Given the description of an element on the screen output the (x, y) to click on. 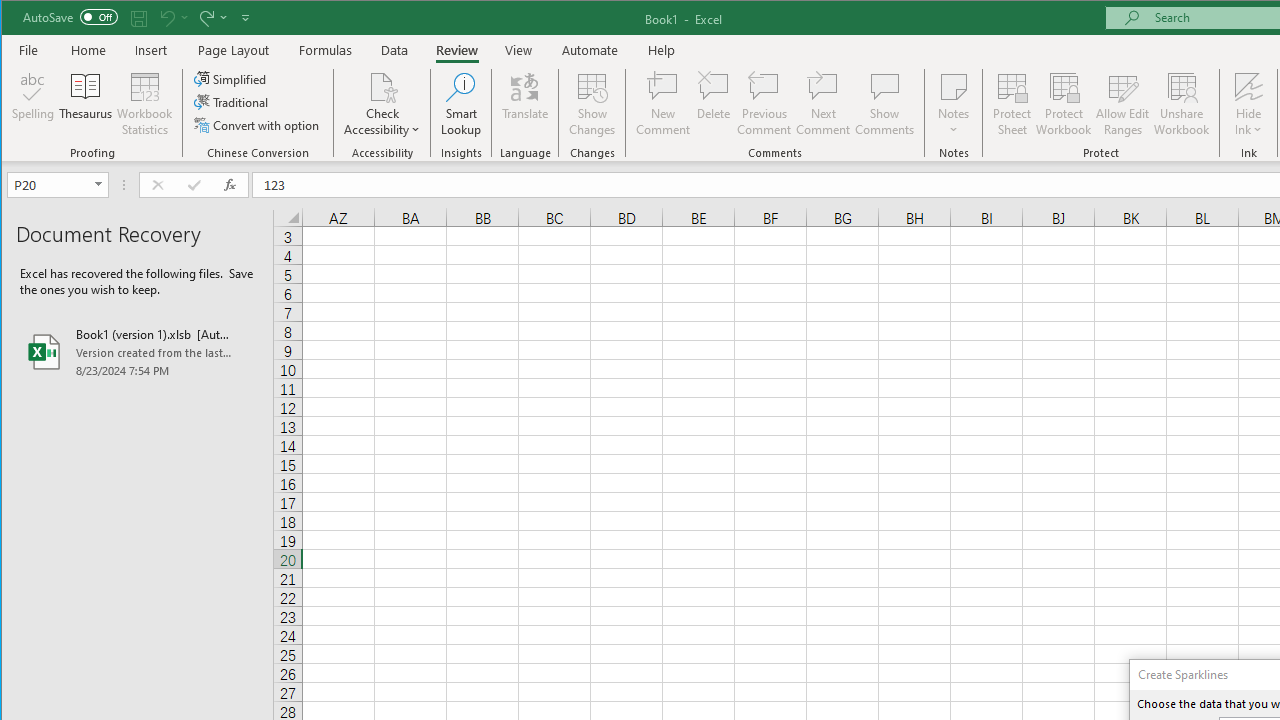
Hide Ink (1248, 104)
Check Accessibility (381, 104)
Workbook Statistics (145, 104)
Show Changes (592, 104)
Convert with option (258, 124)
Translate (525, 104)
Thesaurus... (86, 104)
Smart Lookup (461, 104)
Traditional (232, 101)
